Given the description of an element on the screen output the (x, y) to click on. 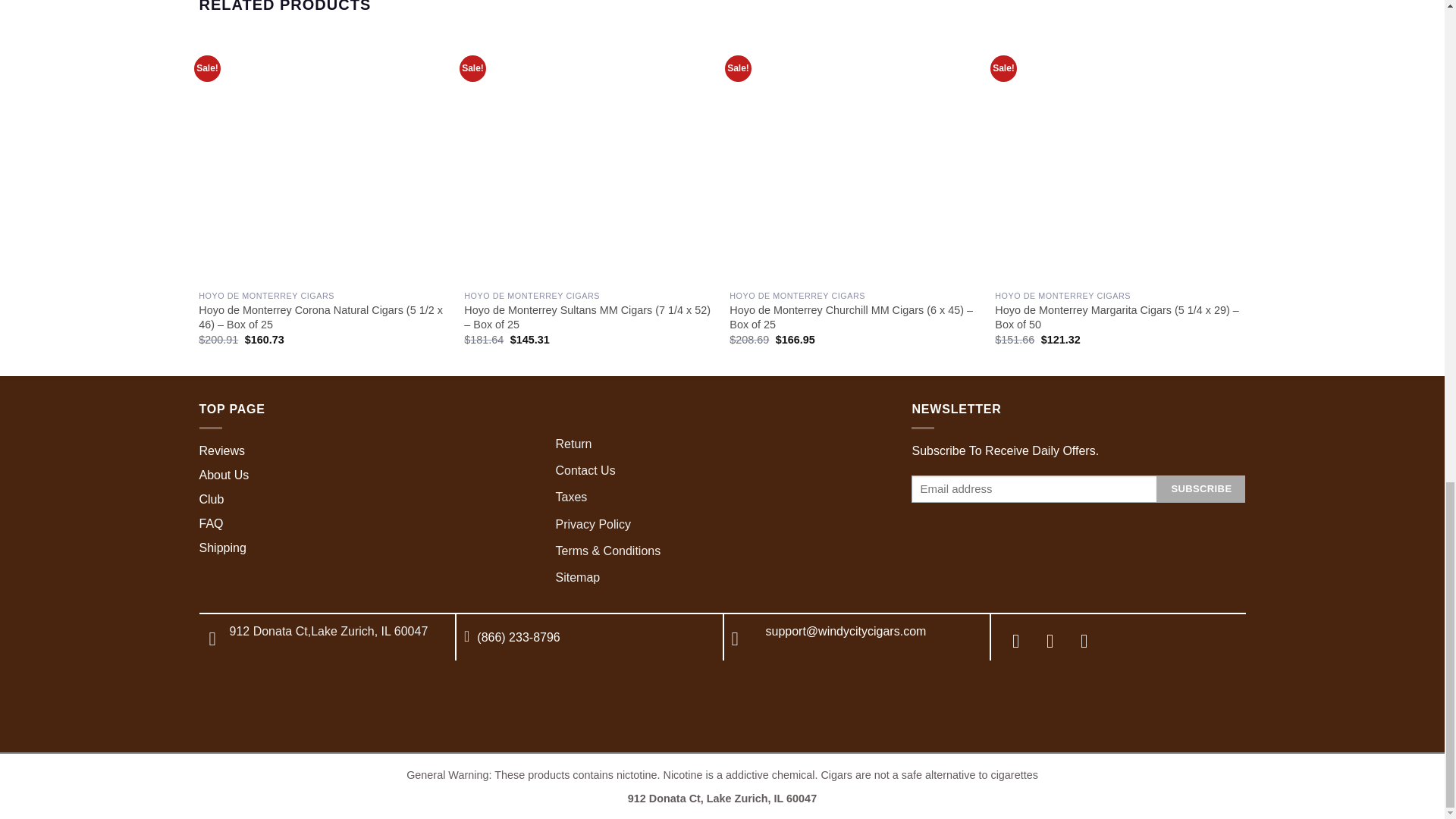
Subscribe (1200, 488)
